Given the description of an element on the screen output the (x, y) to click on. 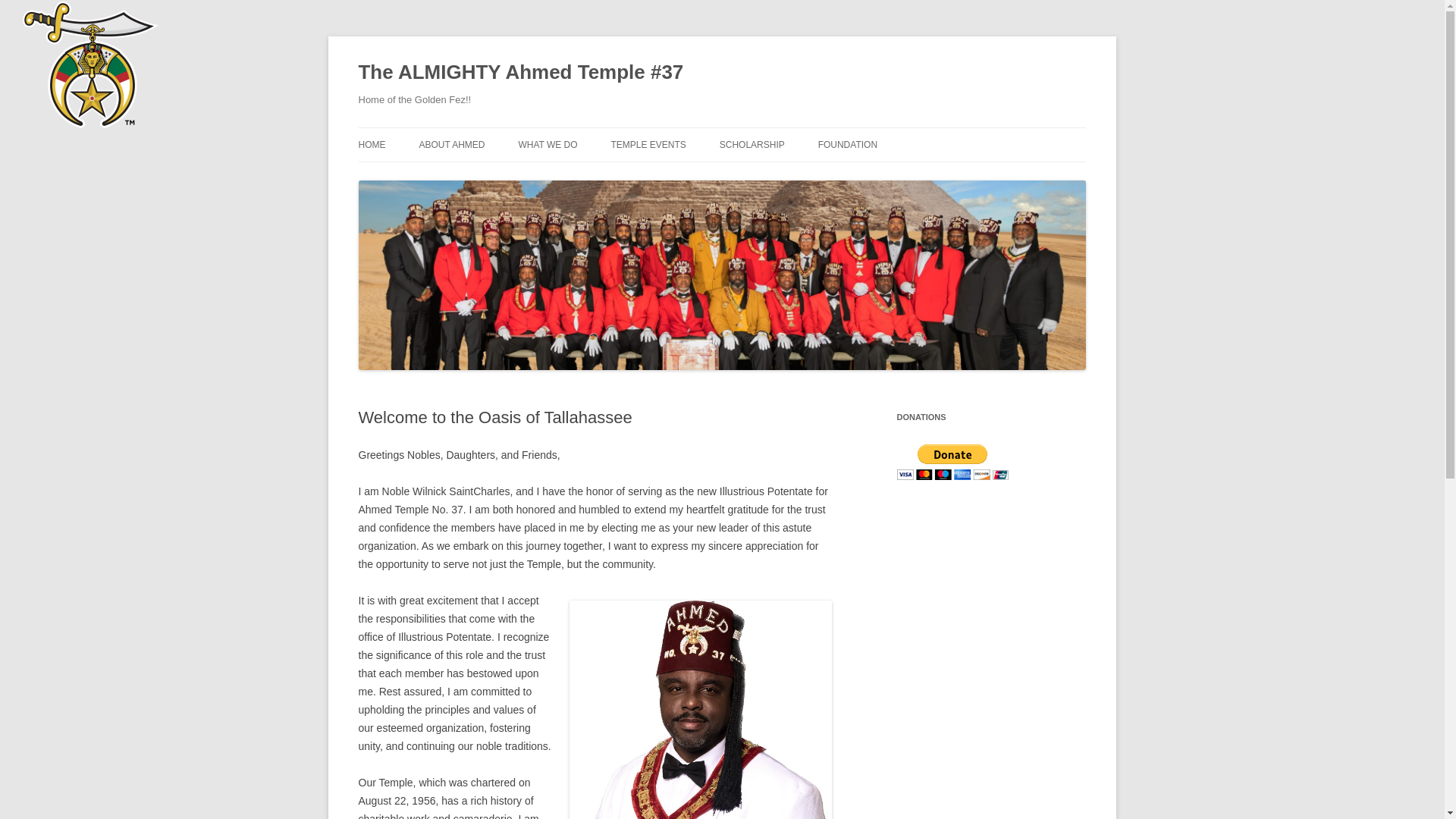
TEMPLE EVENTS (647, 144)
WHAT WE DO (547, 144)
ABOUT AHMED (451, 144)
THE DIVAN (494, 176)
EVENTS (893, 176)
CHARITY (593, 176)
FOUNDATION (847, 144)
SCHOLARSHIP (751, 144)
